Given the description of an element on the screen output the (x, y) to click on. 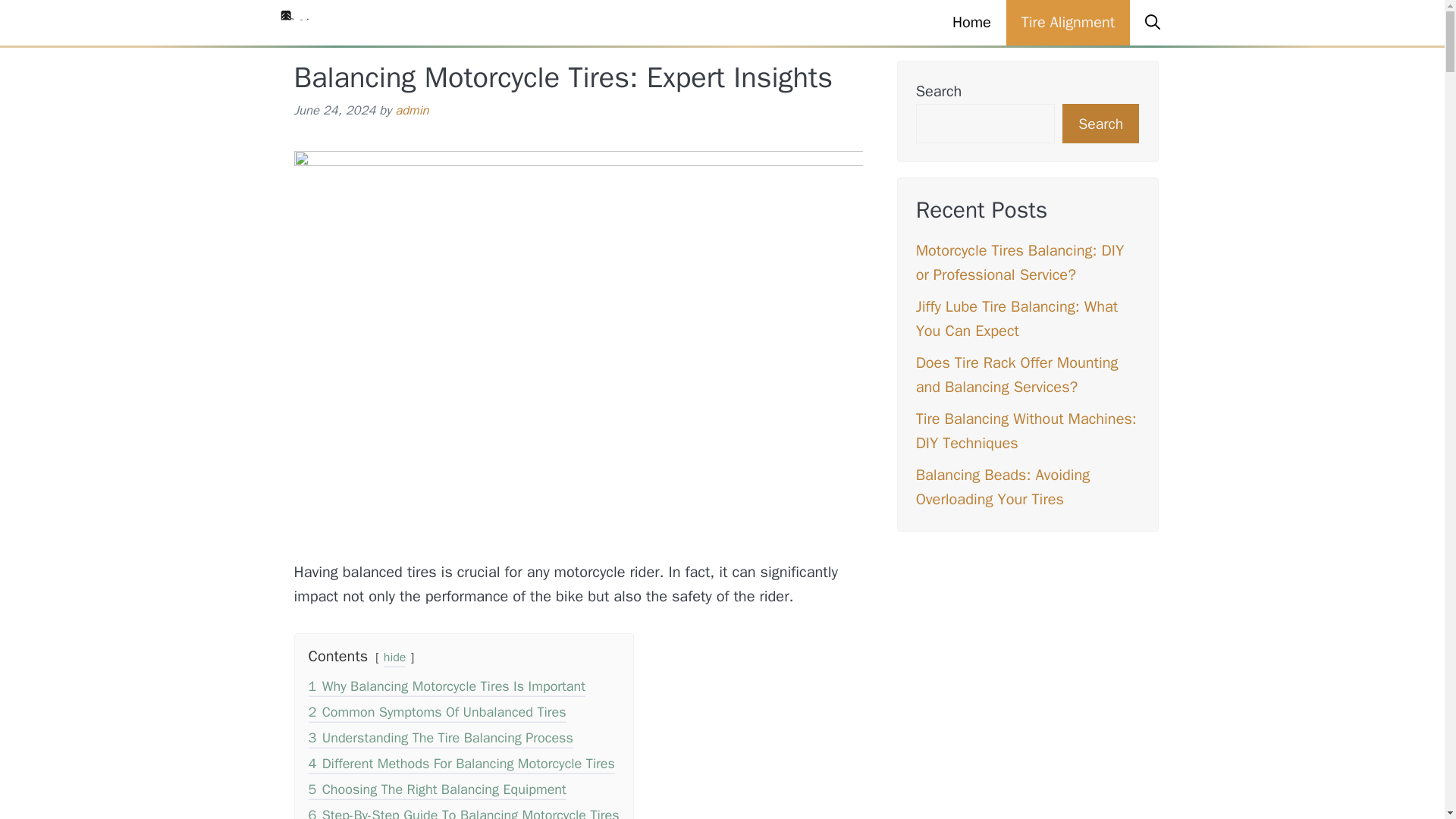
Motorcycle Tires Balancing: DIY or Professional Service? (1019, 262)
Tire Alignment (307, 22)
4 Different Methods For Balancing Motorcycle Tires (460, 765)
Does Tire Rack Offer Mounting and Balancing Services? (1016, 374)
Tire Alignment (1067, 22)
6 Step-By-Step Guide To Balancing Motorcycle Tires (462, 812)
Jiffy Lube Tire Balancing: What You Can Expect (1016, 318)
Search (1100, 123)
Home (971, 22)
1 Why Balancing Motorcycle Tires Is Important (446, 688)
hide (395, 659)
Balancing Beads: Avoiding Overloading Your Tires (1002, 487)
admin (411, 109)
5 Choosing The Right Balancing Equipment (436, 791)
3 Understanding The Tire Balancing Process (439, 739)
